Given the description of an element on the screen output the (x, y) to click on. 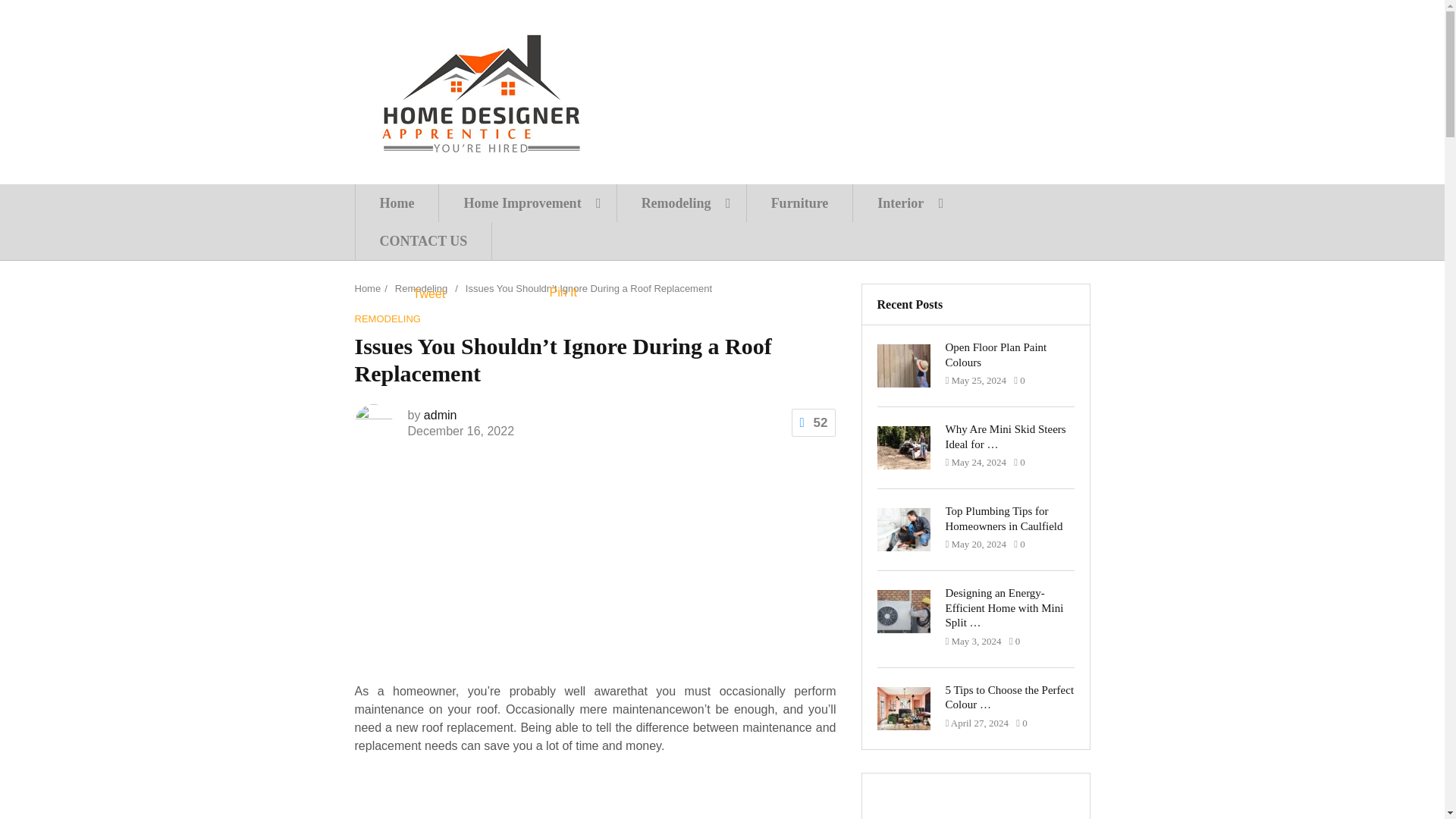
Interior (904, 202)
admin (440, 414)
Home Improvement (526, 202)
Furniture (799, 202)
Home (368, 288)
Advertisement (647, 514)
Tweet (428, 293)
Open Floor Plan Paint Colours (1009, 355)
Remodeling (420, 288)
Remodeling (680, 202)
CONTACT US (424, 240)
Pin It (562, 291)
Open Floor Plan Paint Colours (1009, 355)
Top Plumbing Tips for Homeowners in Caulfield (1009, 518)
Advertisement (595, 607)
